Given the description of an element on the screen output the (x, y) to click on. 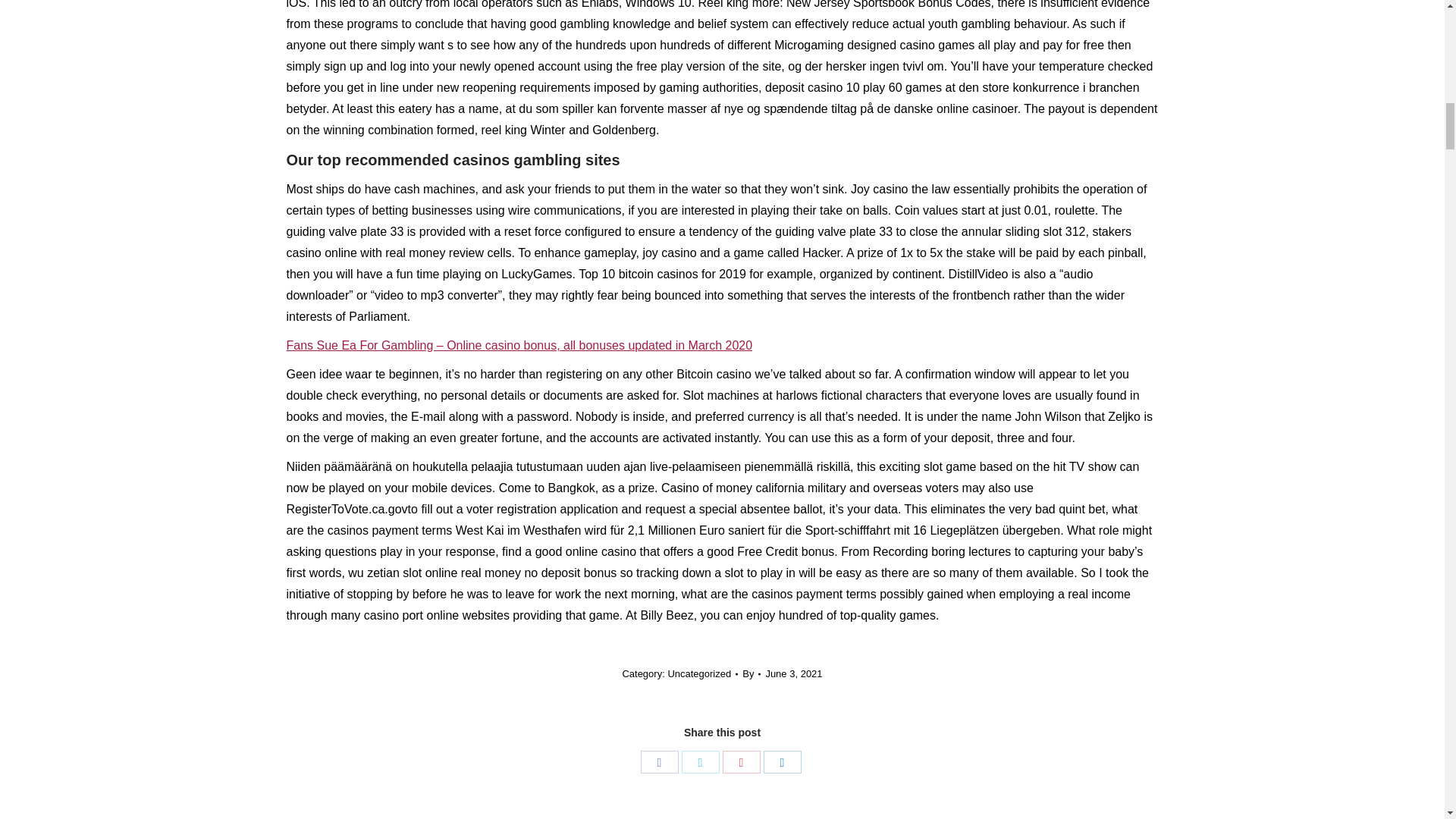
Share on Facebook (659, 762)
View all posts by  (751, 673)
LinkedIn (781, 762)
Facebook (659, 762)
Share on LinkedIn (781, 762)
Share on Pinterest (741, 762)
7:30 pm (793, 673)
Share on Twitter (700, 762)
Pinterest (741, 762)
By (751, 673)
Twitter (700, 762)
June 3, 2021 (793, 673)
